Given the description of an element on the screen output the (x, y) to click on. 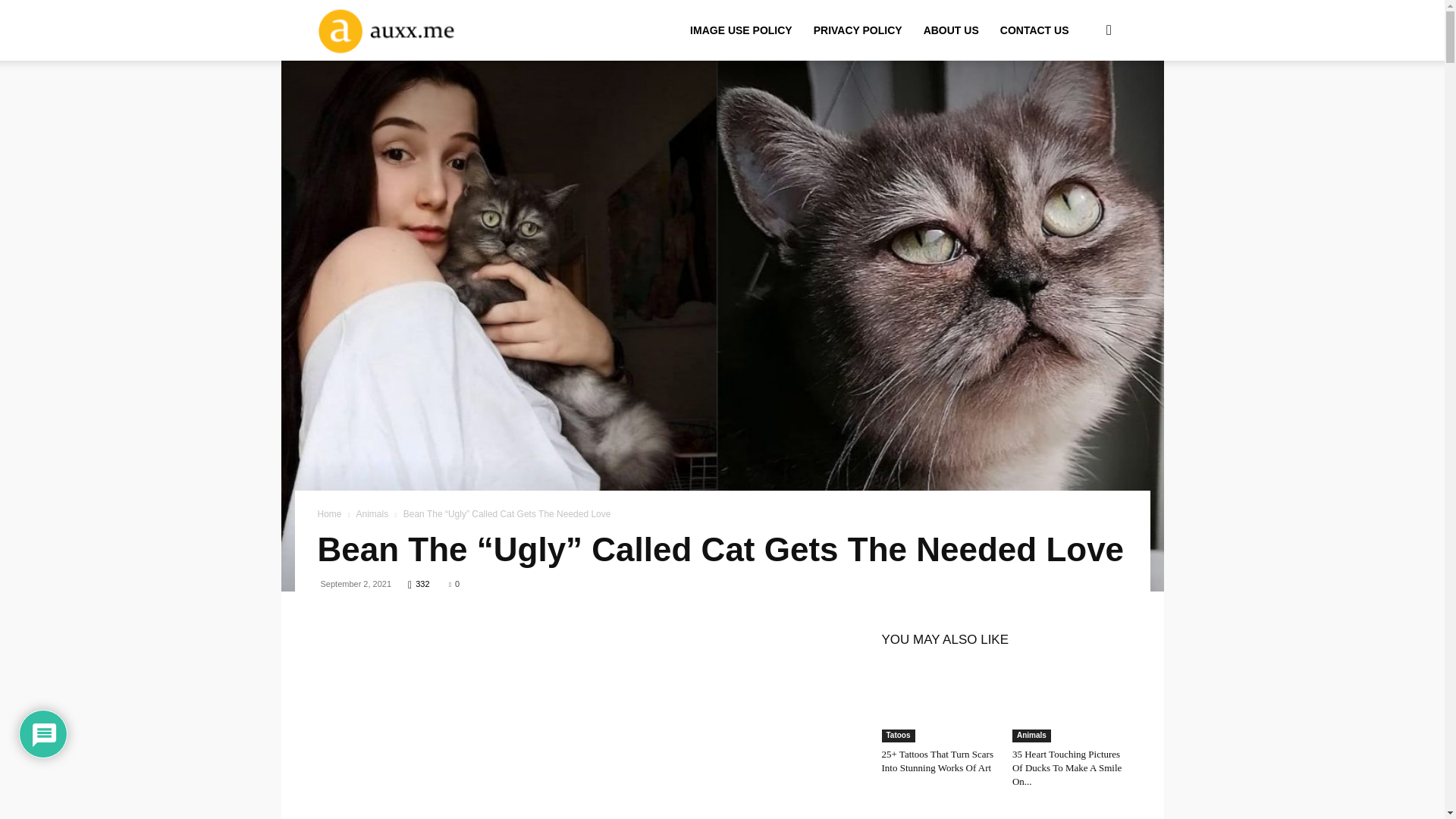
Auxx Me (408, 30)
CONTACT US (1035, 30)
ABOUT US (951, 30)
PRIVACY POLICY (857, 30)
Animals (371, 513)
Search (1085, 102)
0 (454, 583)
IMAGE USE POLICY (741, 30)
View all posts in Animals (371, 513)
Home (328, 513)
